Given the description of an element on the screen output the (x, y) to click on. 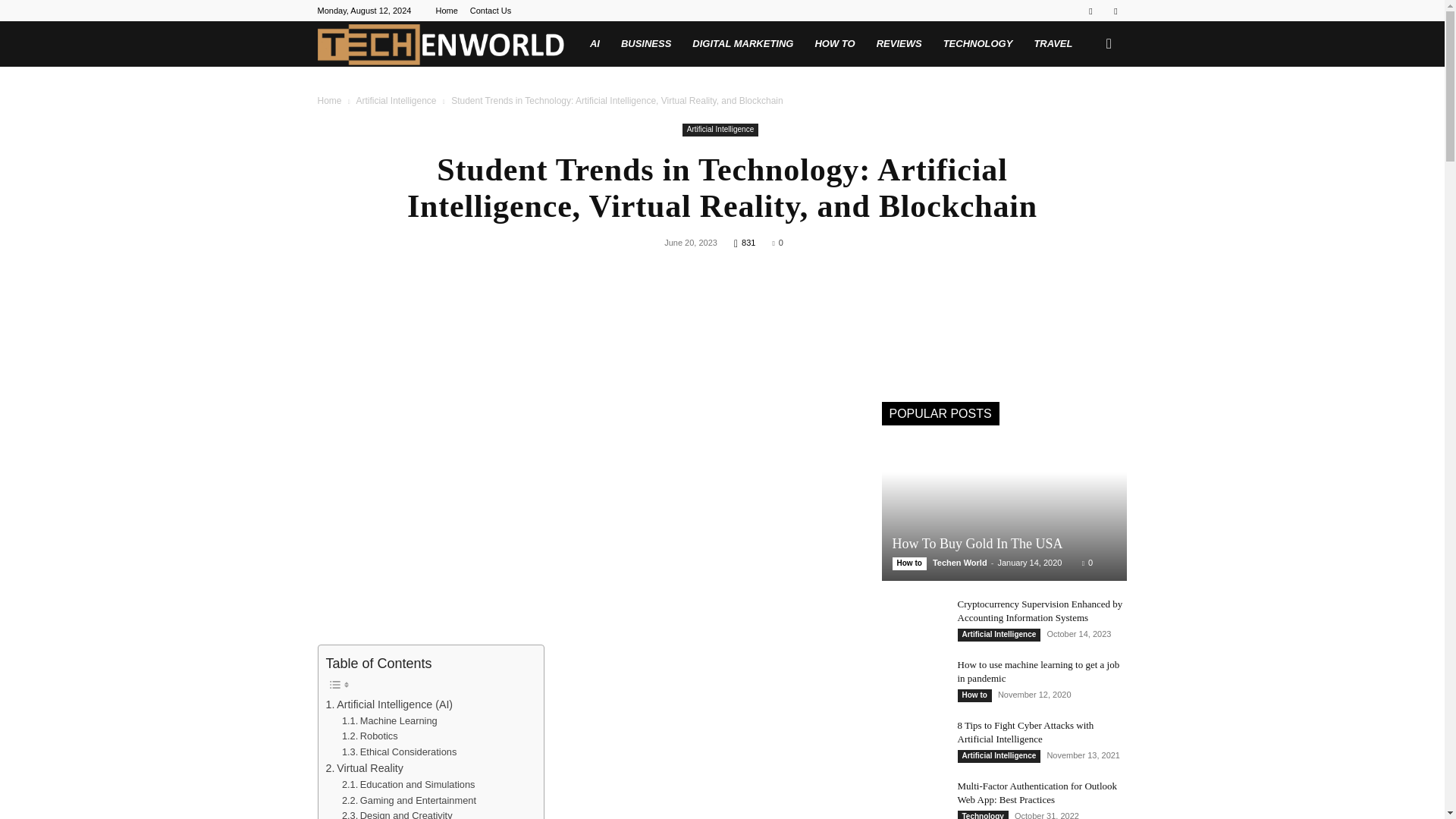
Machine Learning (390, 721)
techenworld (440, 44)
BUSINESS (645, 43)
REVIEWS (899, 43)
HOW TO (833, 43)
Home (328, 100)
Facebook (1090, 10)
TechenWorld (447, 44)
Artificial Intelligence (720, 129)
DIGITAL MARKETING (742, 43)
